Given the description of an element on the screen output the (x, y) to click on. 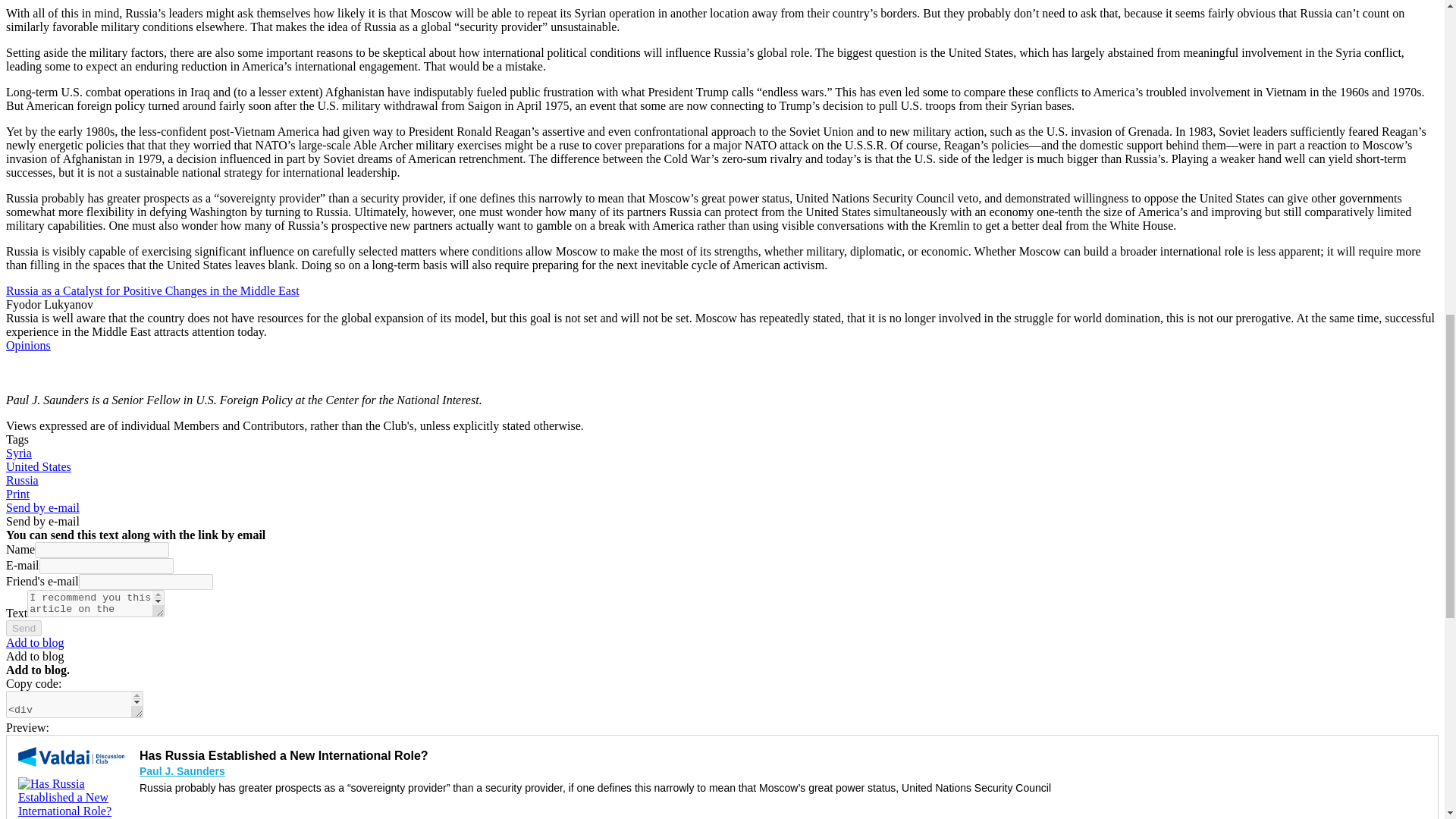
Has Russia Established a New International Role? (70, 797)
Send (23, 627)
